Given the description of an element on the screen output the (x, y) to click on. 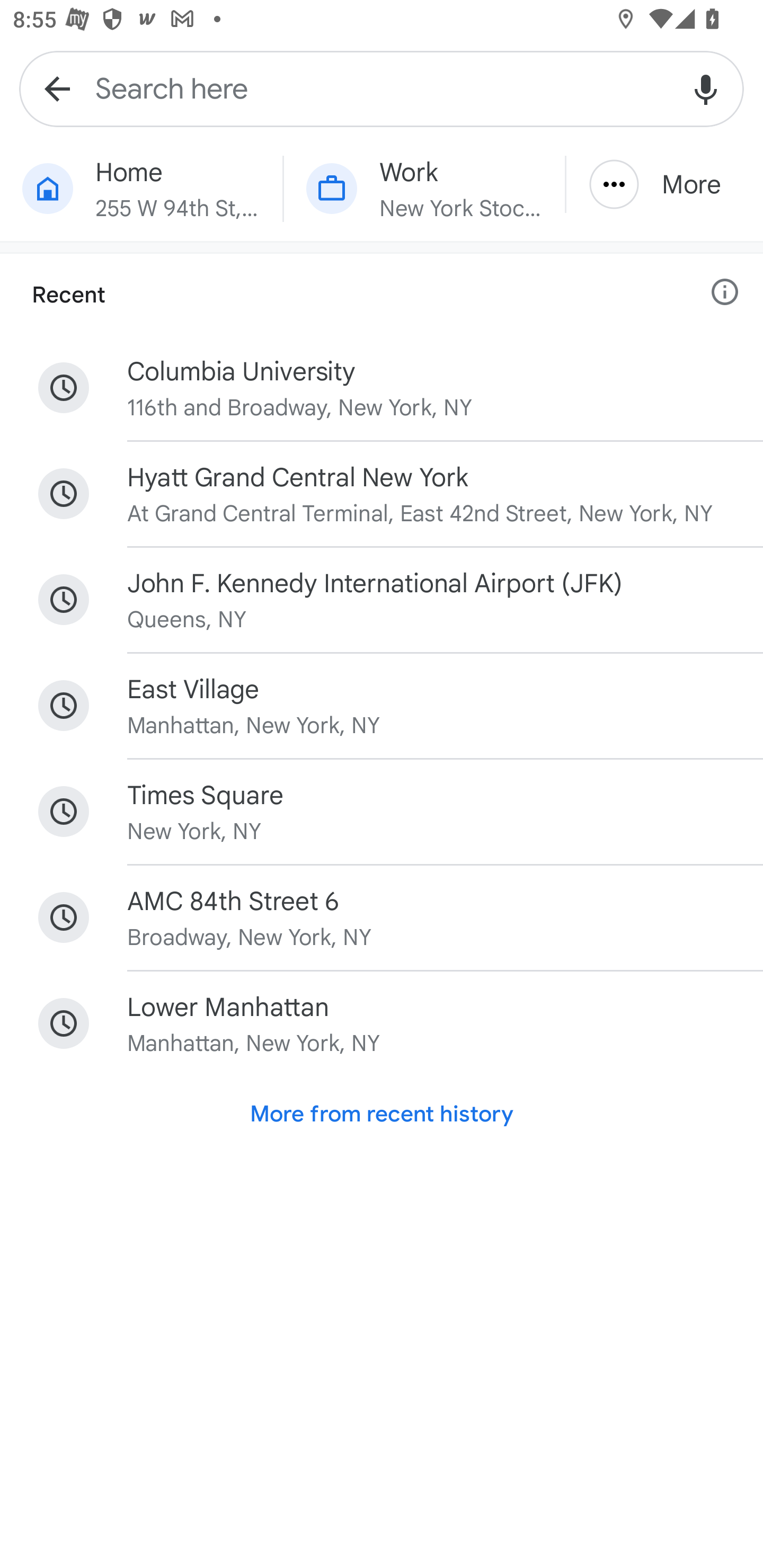
Navigate up (57, 88)
Search here (381, 88)
Voice search (705, 88)
More (664, 184)
East Village Manhattan, New York, NY (381, 705)
Times Square New York, NY (381, 810)
AMC 84th Street 6 Broadway, New York, NY (381, 917)
Lower Manhattan Manhattan, New York, NY (381, 1023)
More from recent history (381, 1113)
